Given the description of an element on the screen output the (x, y) to click on. 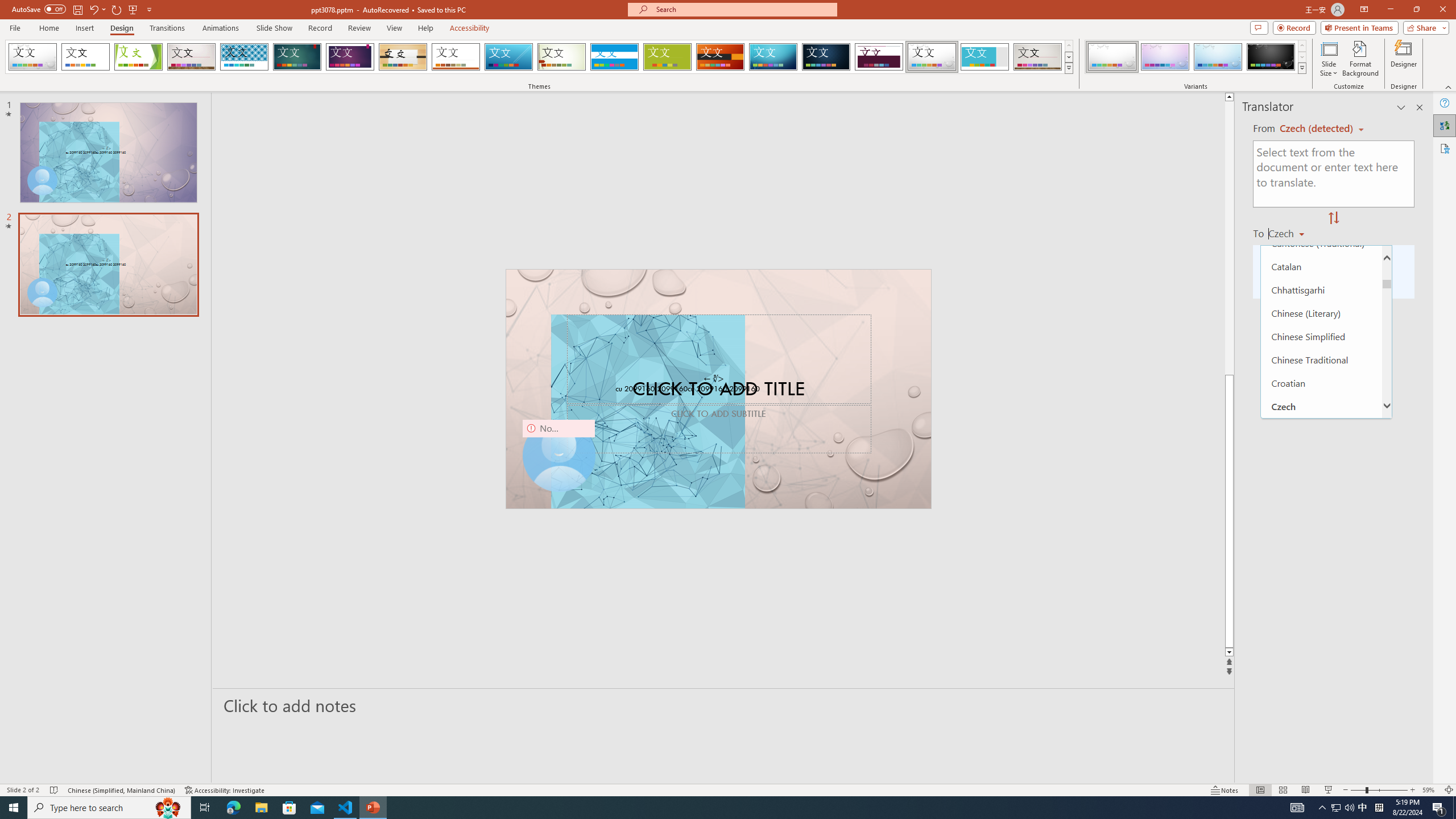
Camera 9, No camera detected. (558, 455)
AutomationID: ThemeVariantsGallery (1195, 56)
Dogri (1320, 499)
Banded (614, 56)
French (1320, 685)
